Given the description of an element on the screen output the (x, y) to click on. 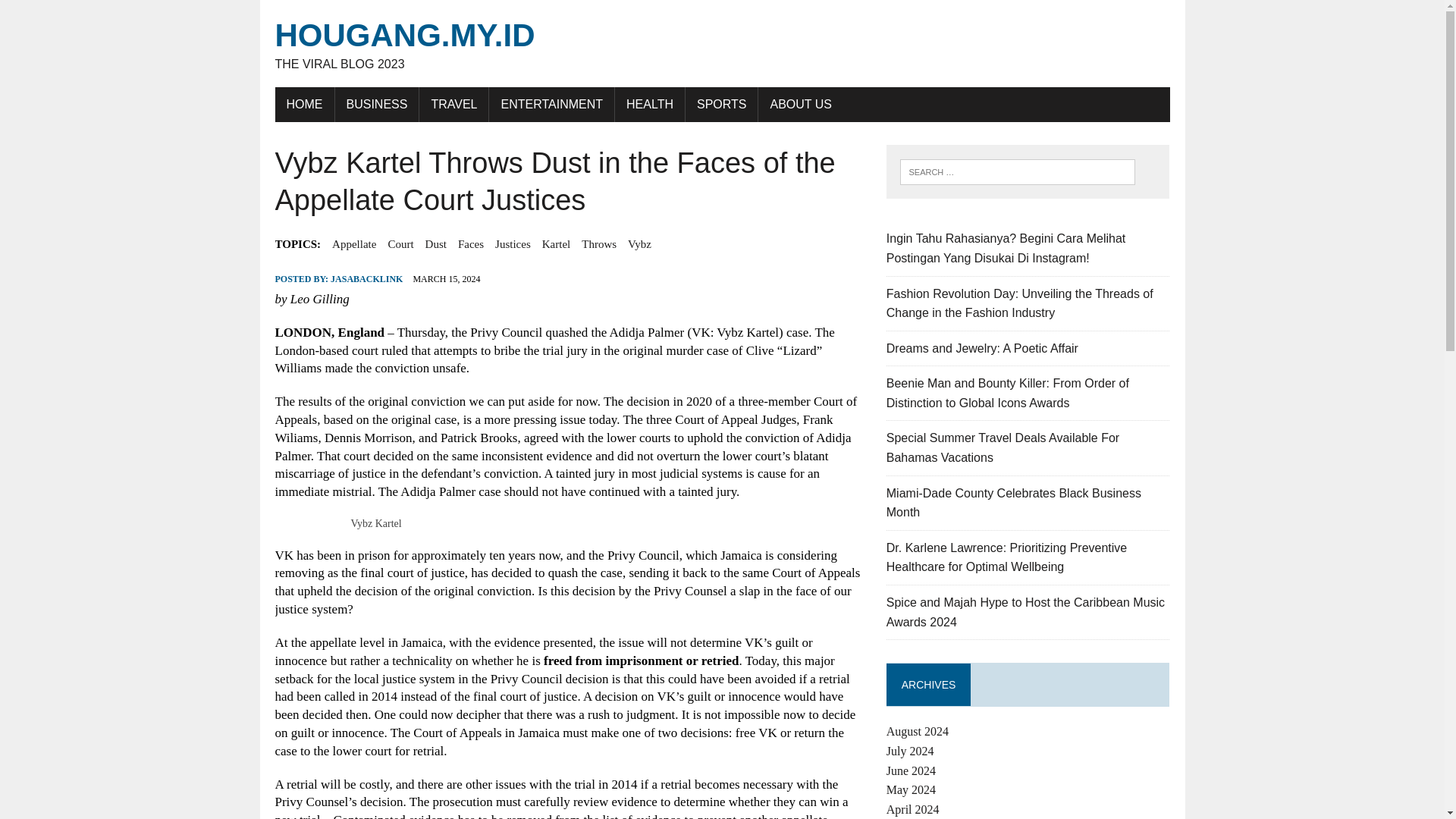
hougang.my.id (722, 43)
Spice and Majah Hype to Host the Caribbean Music Awards 2024 (1025, 612)
SPORTS (721, 104)
Justices (513, 244)
Faces (470, 244)
HEALTH (649, 104)
Dreams and Jewelry: A Poetic Affair (982, 348)
Court (400, 244)
Dust (435, 244)
Search (75, 14)
